Given the description of an element on the screen output the (x, y) to click on. 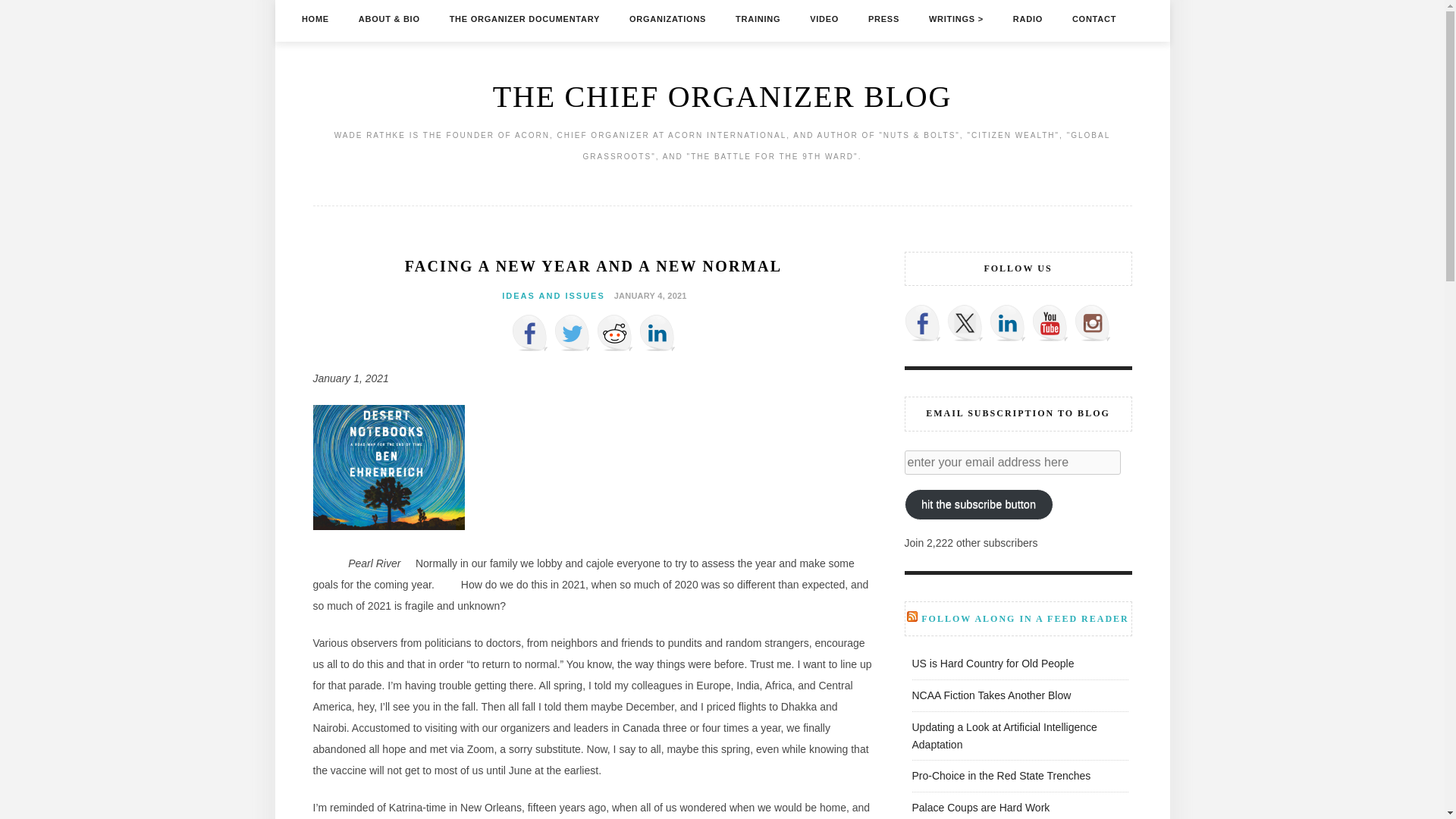
TRAINING (757, 18)
Share on Twitter (571, 332)
IDEAS AND ISSUES (553, 295)
ORGANIZATIONS (667, 18)
JANUARY 4, 2021 (648, 295)
THE CHIEF ORGANIZER BLOG (722, 96)
THE ORGANIZER DOCUMENTARY (524, 18)
Share on LinkedIn (657, 332)
Share on Reddit (613, 332)
Share on Facebook (529, 332)
CONTACT (1093, 18)
hit the subscribe button (978, 503)
